Given the description of an element on the screen output the (x, y) to click on. 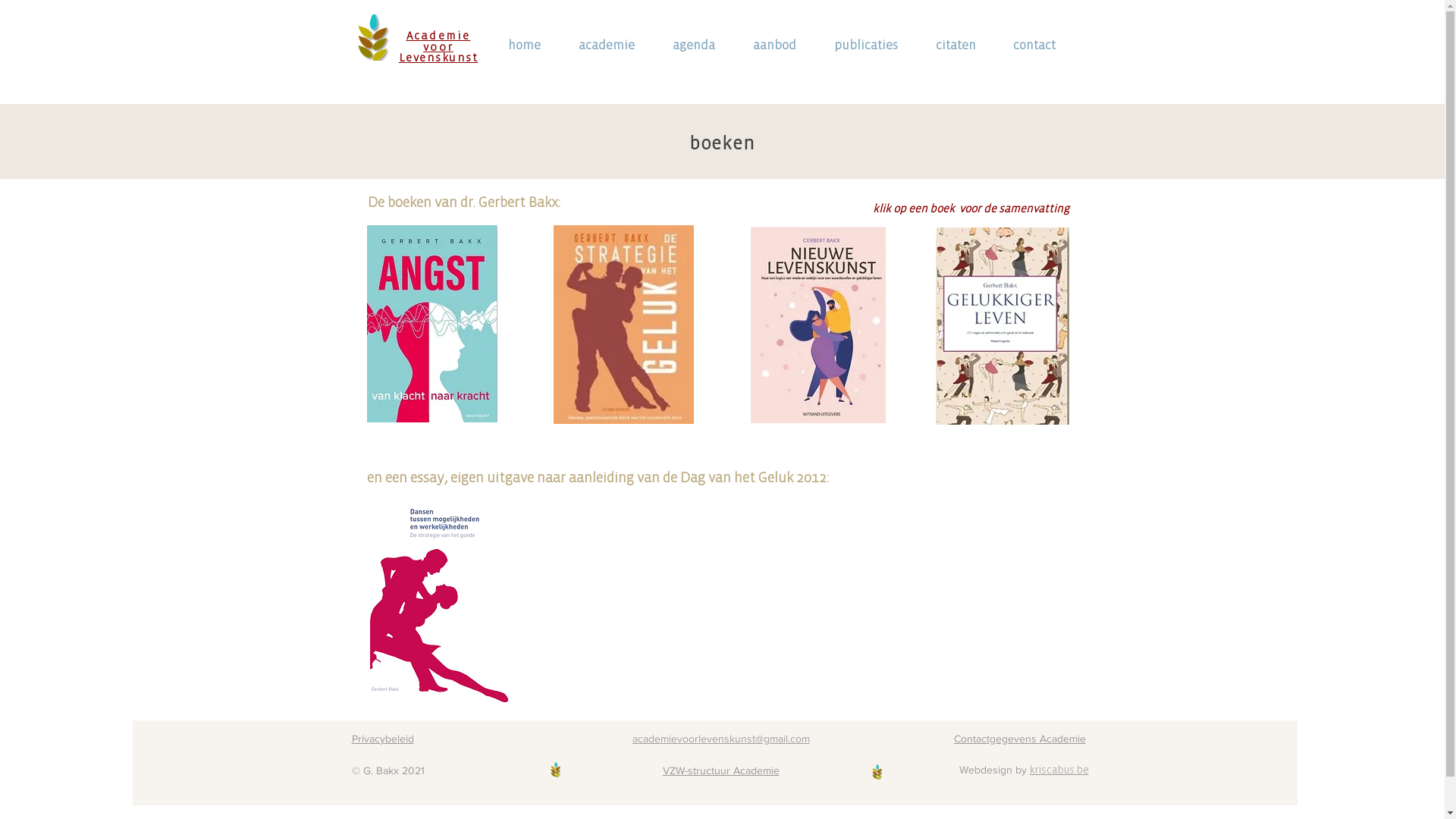
VZW-structuur Academie Element type: text (720, 770)
academievoorlevenskunst@gmail.com Element type: text (720, 738)
citaten Element type: text (954, 45)
contact Element type: text (1033, 45)
Contactgegevens Academie Element type: text (1019, 738)
Privacybeleid Element type: text (382, 738)
home Element type: text (524, 45)
Academie
voor
Levenskunst Element type: text (438, 45)
agenda Element type: text (693, 45)
kriscabus.be Element type: text (1058, 768)
